Given the description of an element on the screen output the (x, y) to click on. 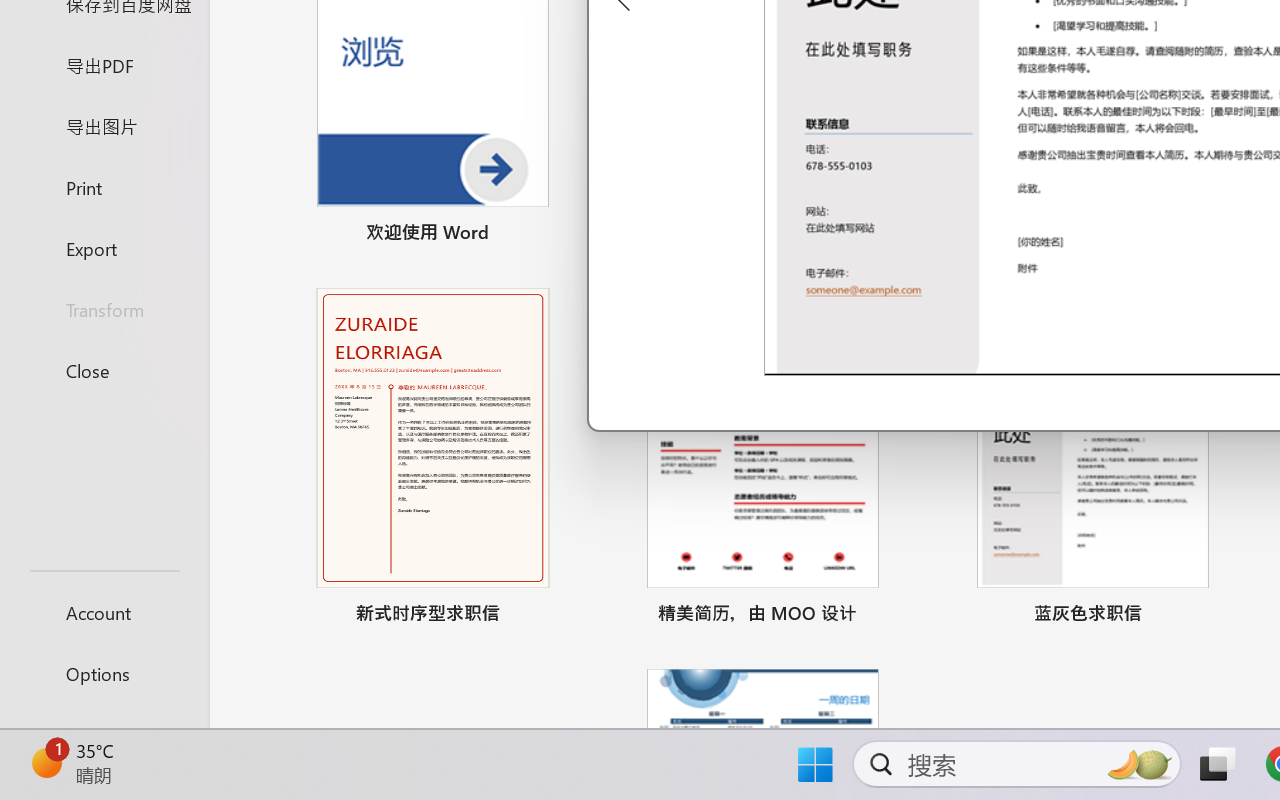
Account (104, 612)
Print (104, 186)
Transform (104, 309)
Pin to list (1223, 616)
Export (104, 248)
